Given the description of an element on the screen output the (x, y) to click on. 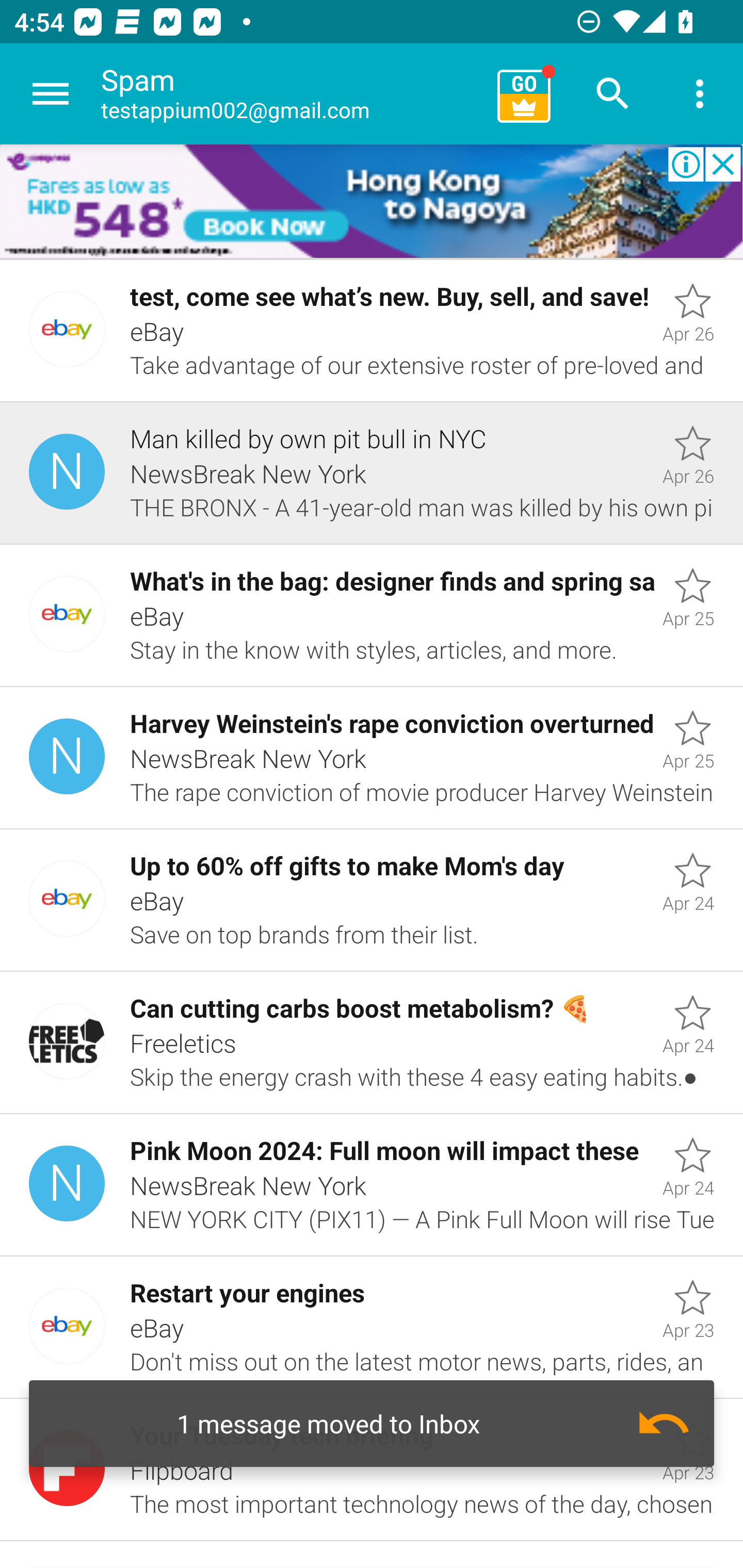
Navigate up (50, 93)
Spam testappium002@gmail.com (291, 93)
Search (612, 93)
More options (699, 93)
Advertisement (371, 202)
Undo 1 message moved to Inbox (371, 1423)
